Given the description of an element on the screen output the (x, y) to click on. 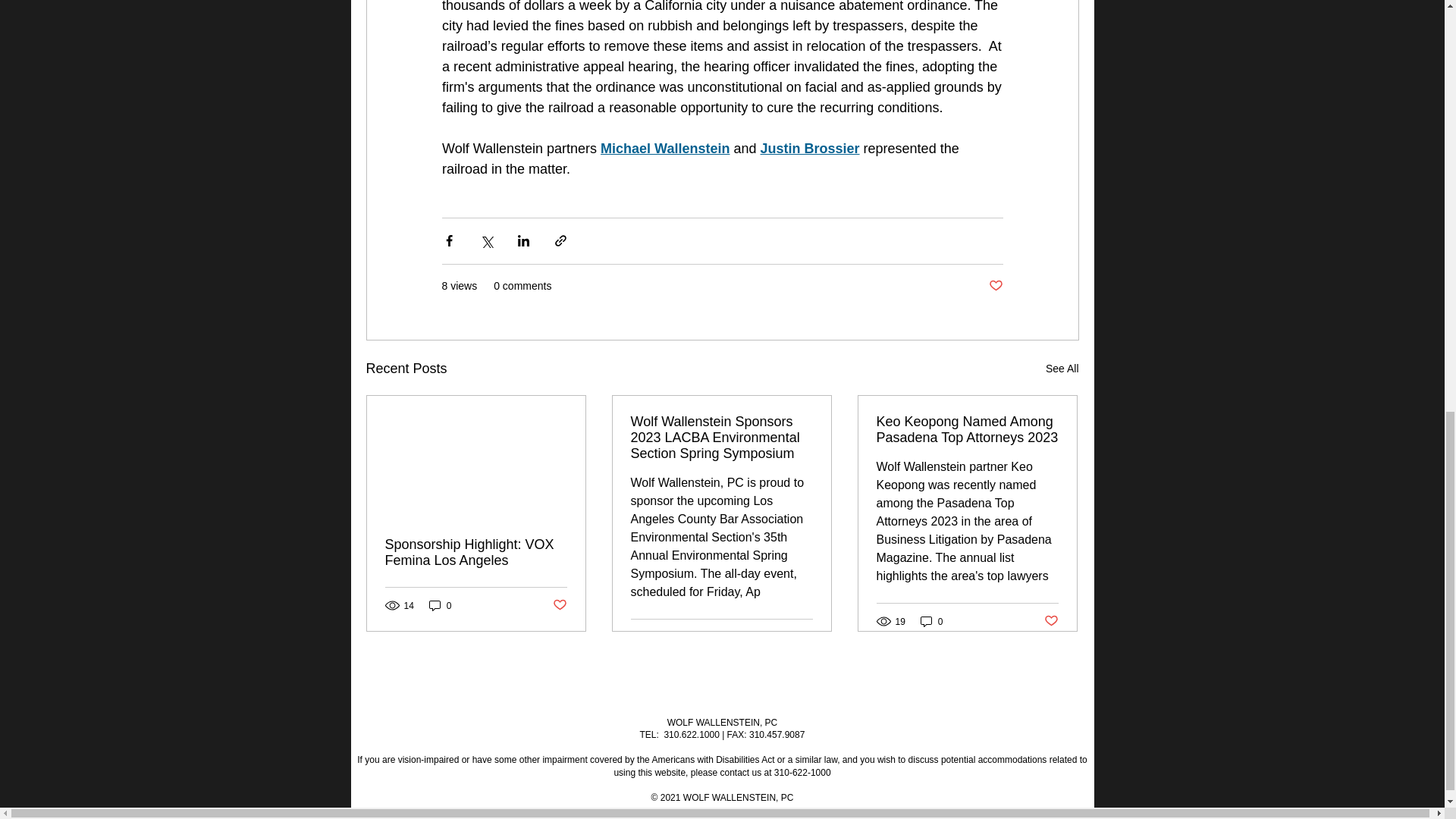
Post not marked as liked (558, 605)
0 (440, 605)
See All (1061, 368)
Post not marked as liked (995, 286)
Post not marked as liked (804, 637)
Michael Wallenstein (664, 148)
Sponsorship Highlight: VOX Femina Los Angeles (476, 552)
Keo Keopong Named Among Pasadena Top Attorneys 2023 (967, 429)
Justin Brossier (809, 148)
